Given the description of an element on the screen output the (x, y) to click on. 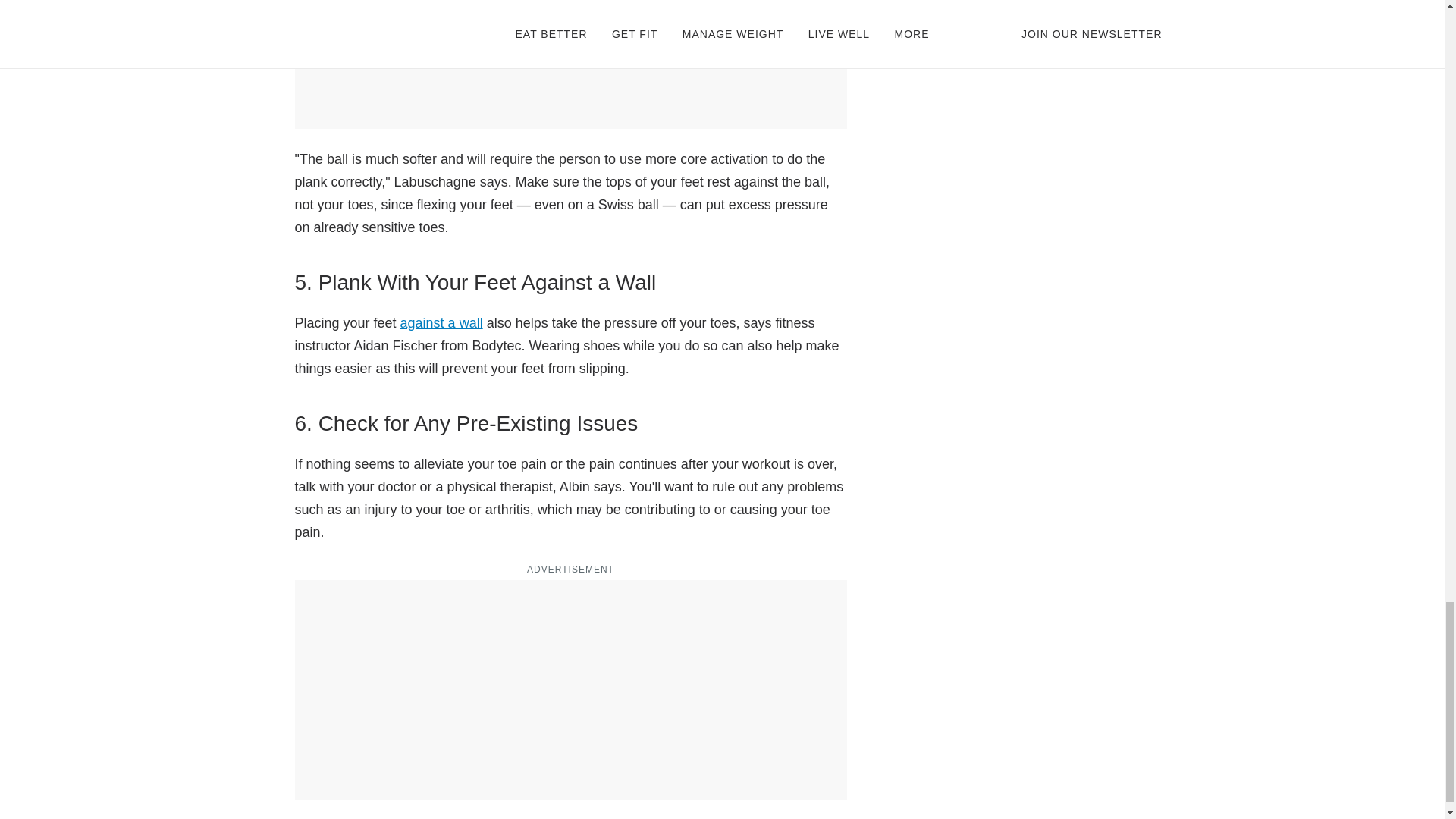
against a wall (441, 322)
